Given the description of an element on the screen output the (x, y) to click on. 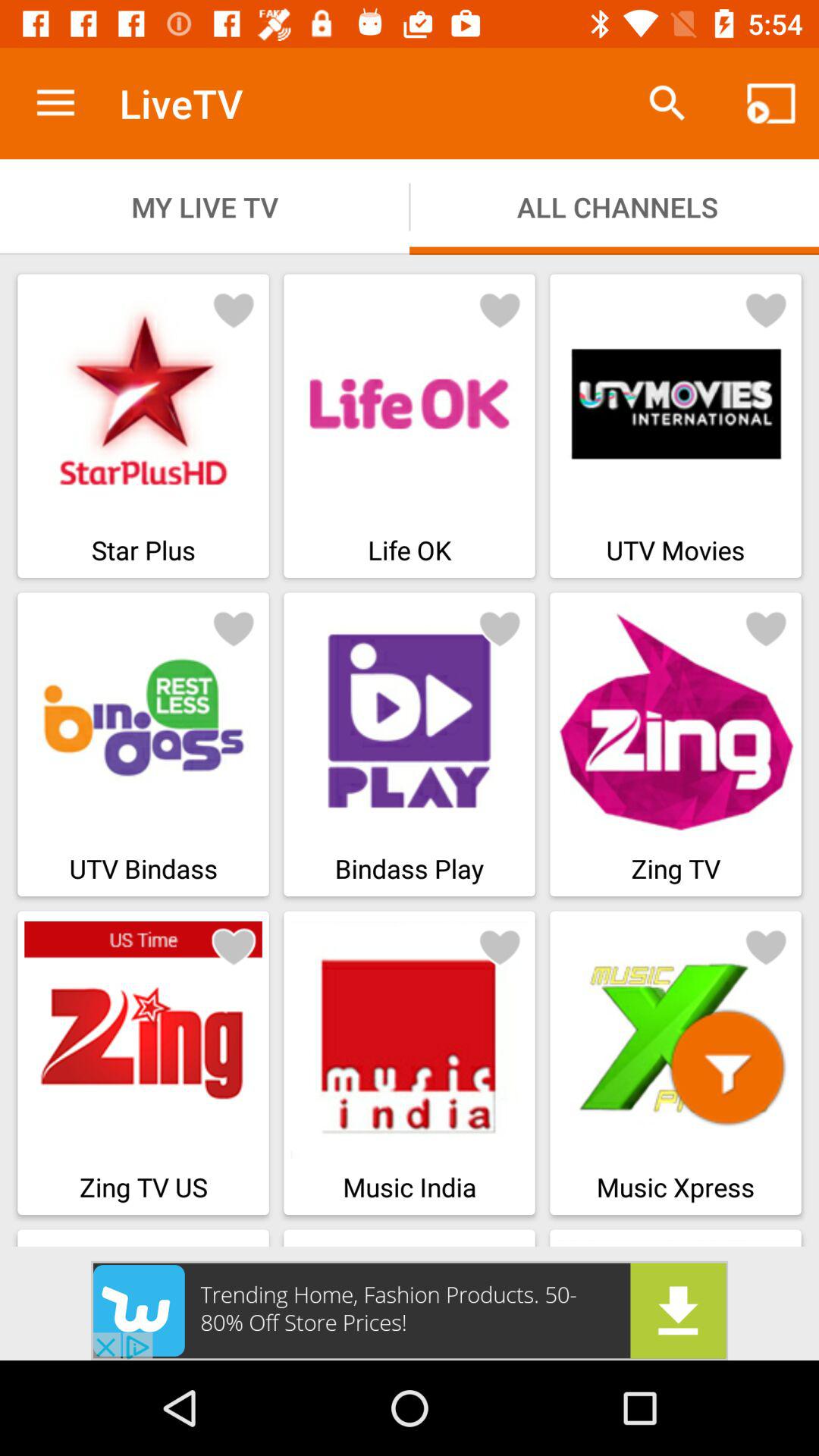
advertisement to favorites (233, 309)
